Given the description of an element on the screen output the (x, y) to click on. 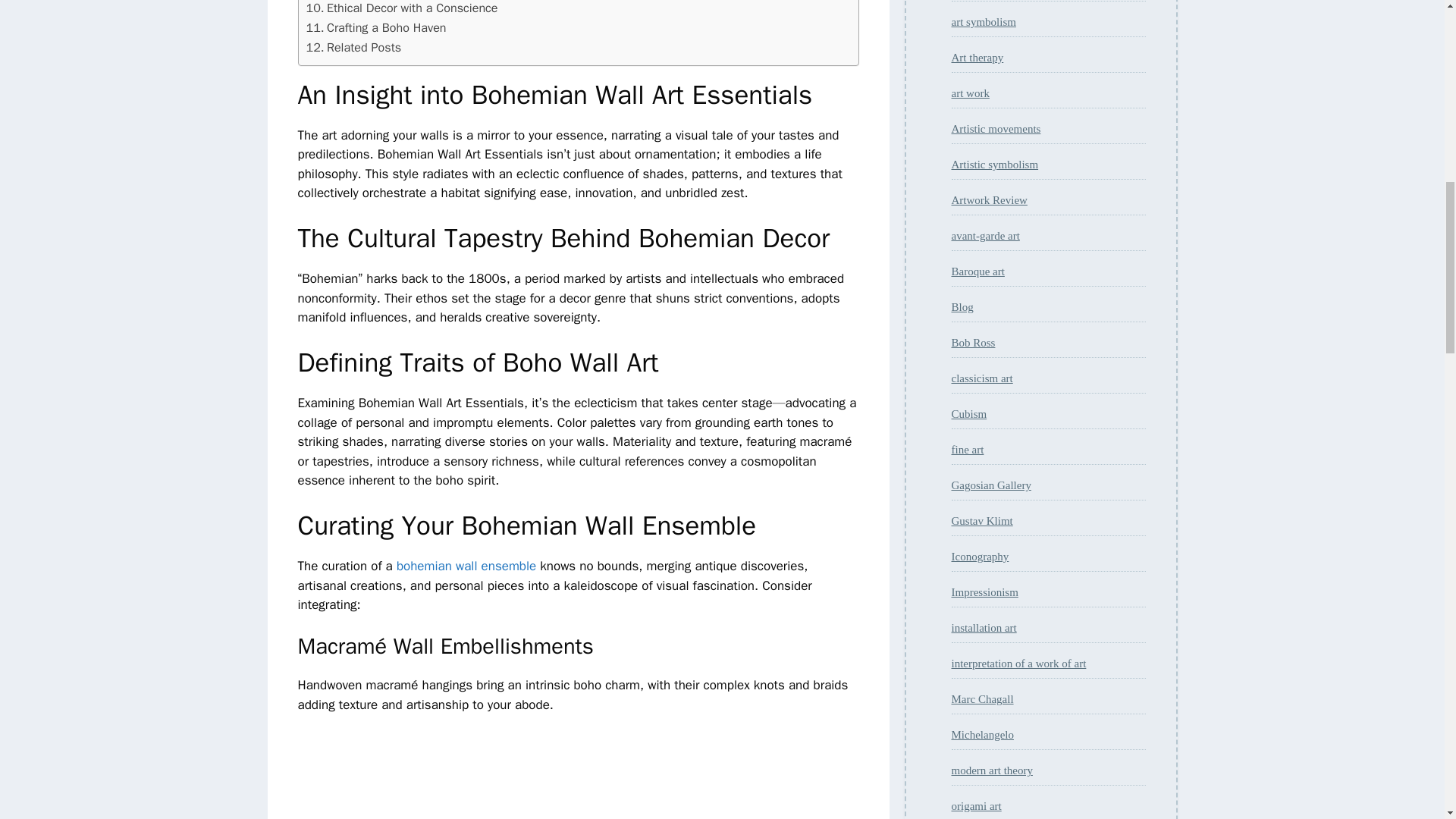
Crafting a Boho Haven (375, 27)
Ethical Decor with a Conscience (401, 9)
Related Posts (353, 47)
Related Posts (353, 47)
Ethical Decor with a Conscience (401, 9)
bohemian wall ensemble (465, 565)
Crafting a Boho Haven (375, 27)
